Given the description of an element on the screen output the (x, y) to click on. 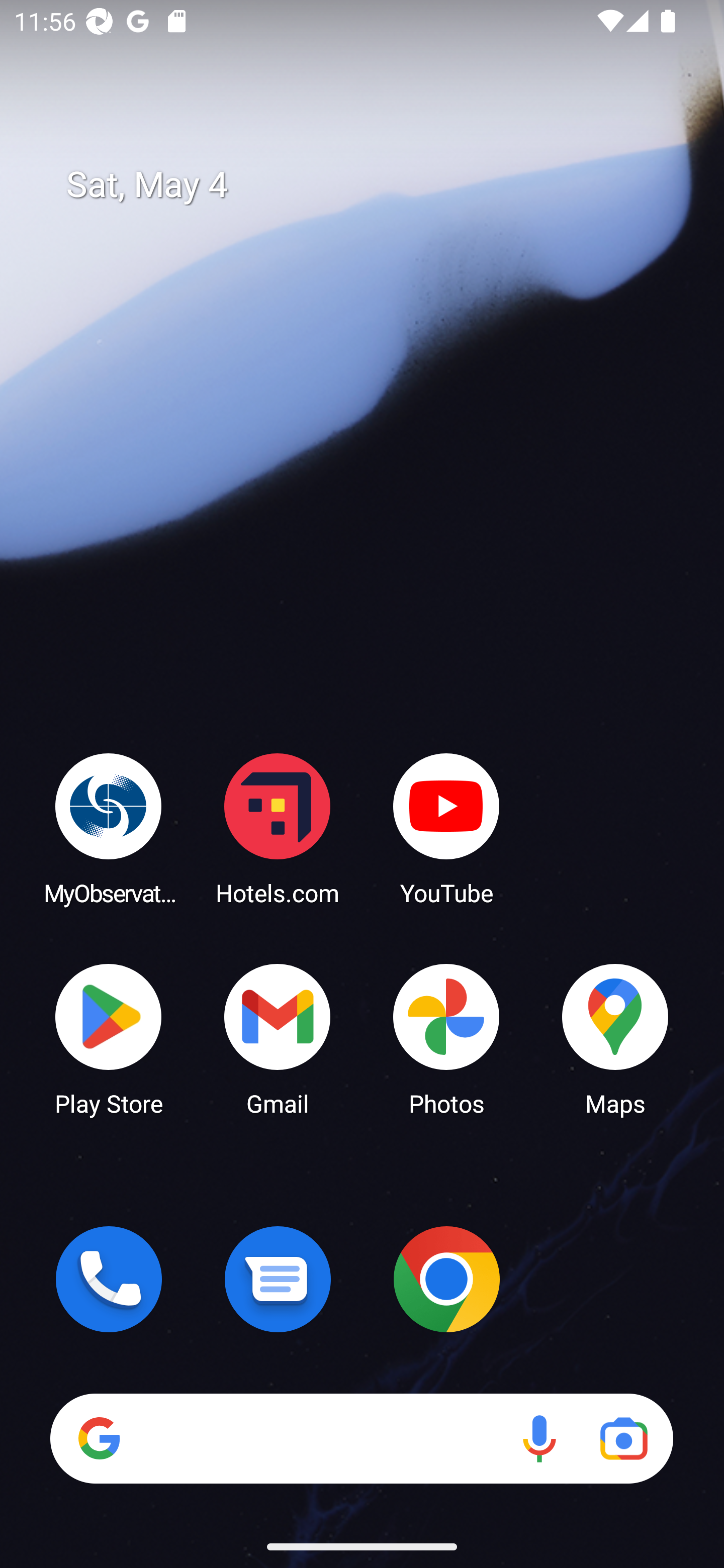
Sat, May 4 (375, 184)
MyObservatory (108, 828)
Hotels.com (277, 828)
YouTube (445, 828)
Play Store (108, 1038)
Gmail (277, 1038)
Photos (445, 1038)
Maps (615, 1038)
Phone (108, 1279)
Messages (277, 1279)
Chrome (446, 1279)
Search Voice search Google Lens (361, 1438)
Voice search (539, 1438)
Google Lens (623, 1438)
